Given the description of an element on the screen output the (x, y) to click on. 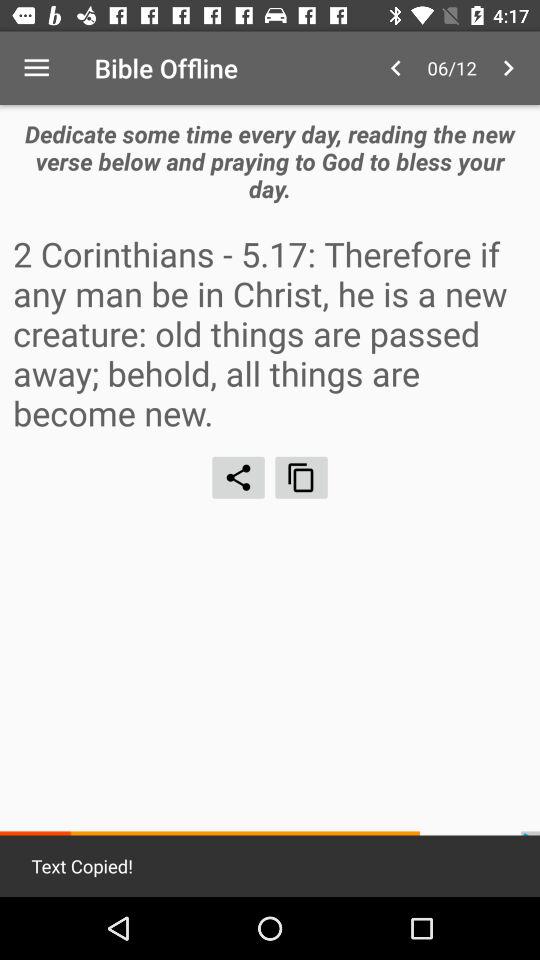
choose item next to the 06/12 (395, 67)
